Given the description of an element on the screen output the (x, y) to click on. 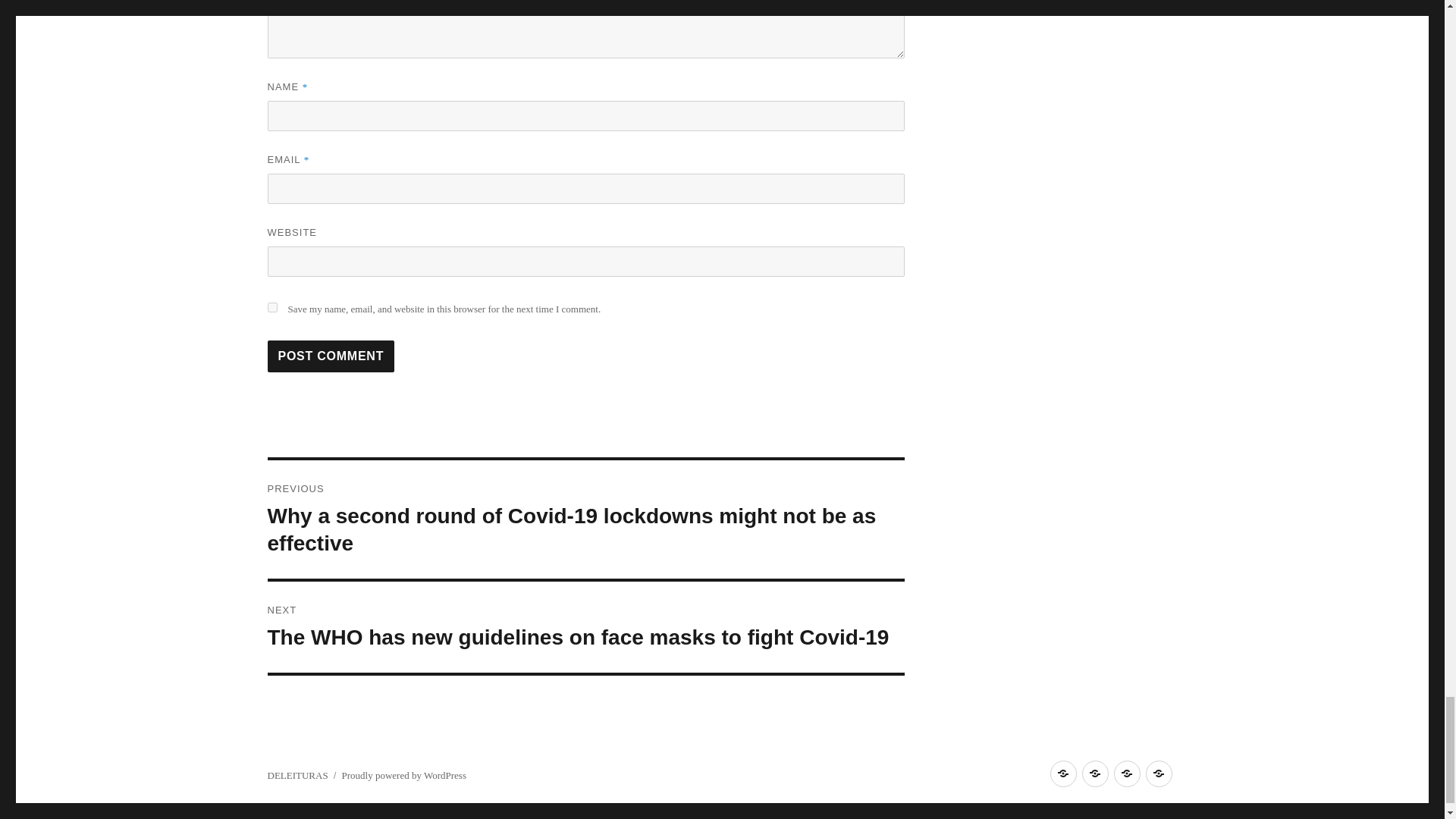
Post Comment (330, 356)
Post Comment (330, 356)
yes (271, 307)
